Given the description of an element on the screen output the (x, y) to click on. 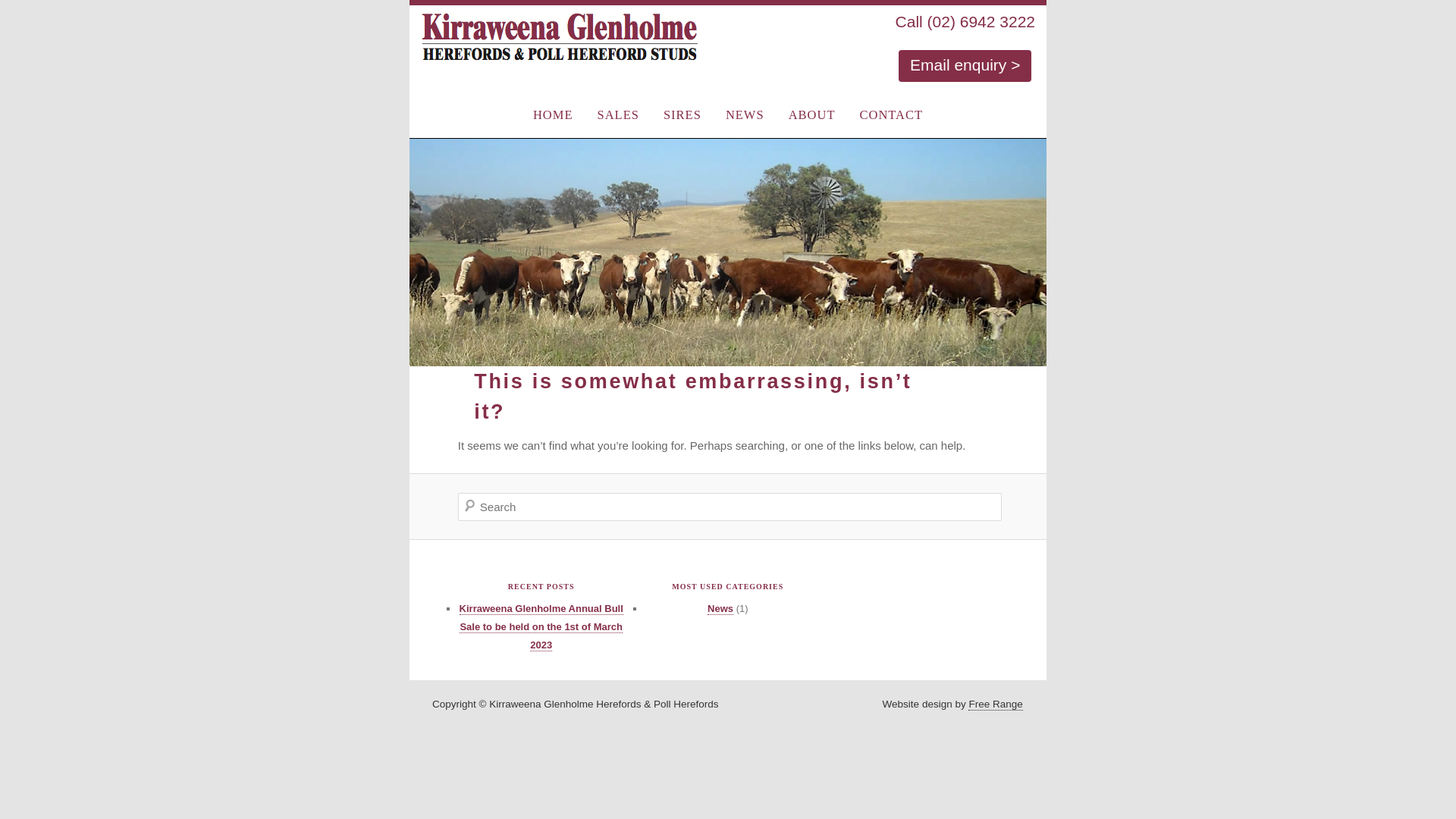
SALES Element type: text (618, 114)
Kirraweena Glenholme Herefords & Poll Herefords Element type: hover (554, 41)
Call (02) 6942 3222 Element type: text (965, 21)
SIRES Element type: text (682, 114)
News Element type: text (720, 608)
Skip to primary content Element type: text (728, 98)
Free Range Element type: text (995, 704)
Search Element type: text (22, 9)
ABOUT Element type: text (812, 114)
CONTACT Element type: text (890, 114)
Email enquiry > Element type: text (964, 65)
HOME Element type: text (552, 114)
NEWS Element type: text (744, 114)
